Given the description of an element on the screen output the (x, y) to click on. 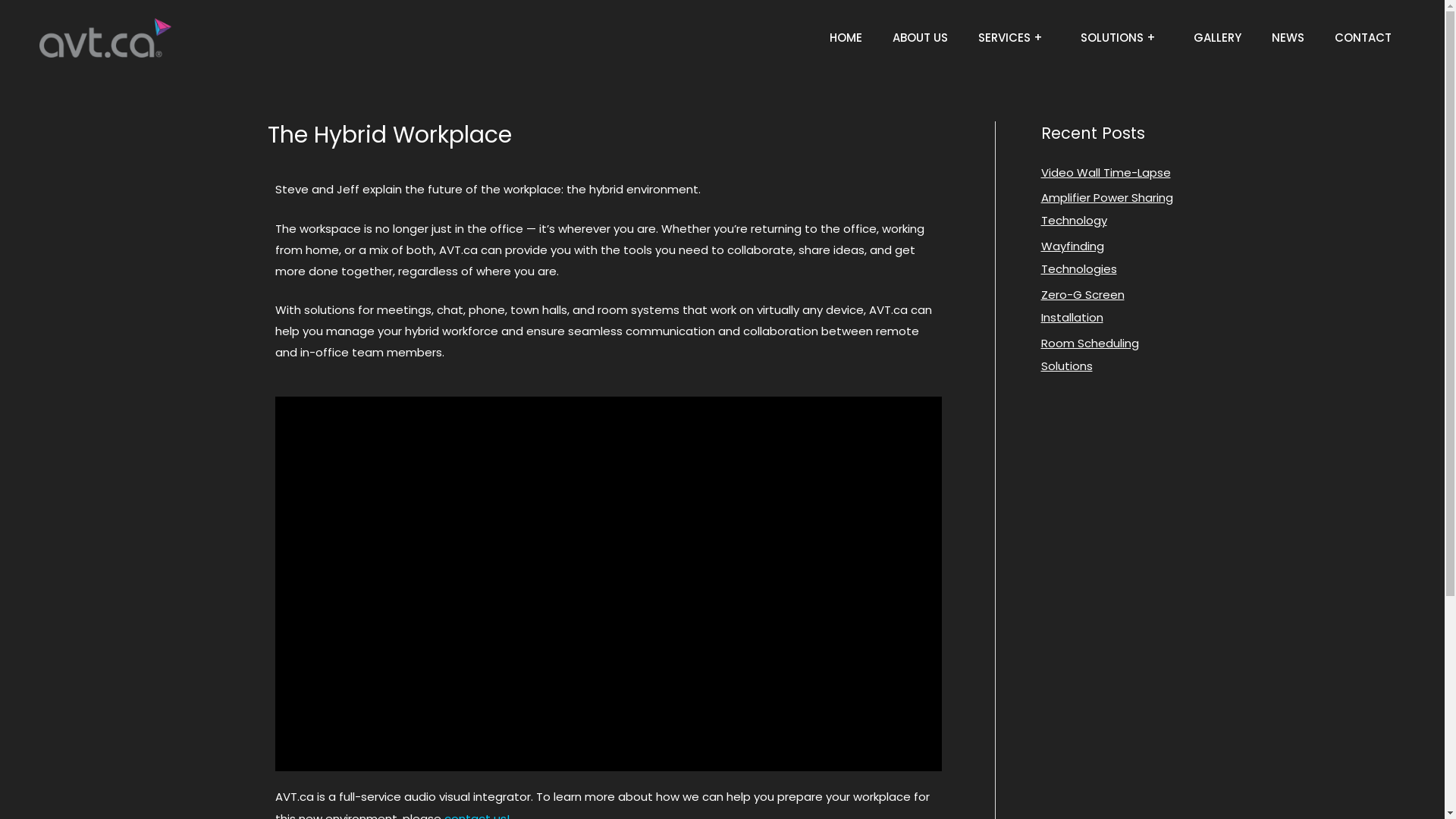
Zero-G Screen Installation Element type: text (1081, 305)
Room Scheduling Solutions Element type: text (1089, 354)
Video Wall Time-Lapse Element type: text (1105, 171)
SERVICES + Element type: text (1014, 37)
Wayfinding Technologies Element type: text (1078, 257)
NEWS Element type: text (1287, 37)
vimeo Video Player Element type: hover (607, 583)
Amplifier Power Sharing Technology Element type: text (1106, 208)
SOLUTIONS + Element type: text (1121, 37)
GALLERY Element type: text (1217, 37)
ABOUT US Element type: text (920, 37)
HOME Element type: text (845, 37)
CONTACT Element type: text (1362, 37)
